Given the description of an element on the screen output the (x, y) to click on. 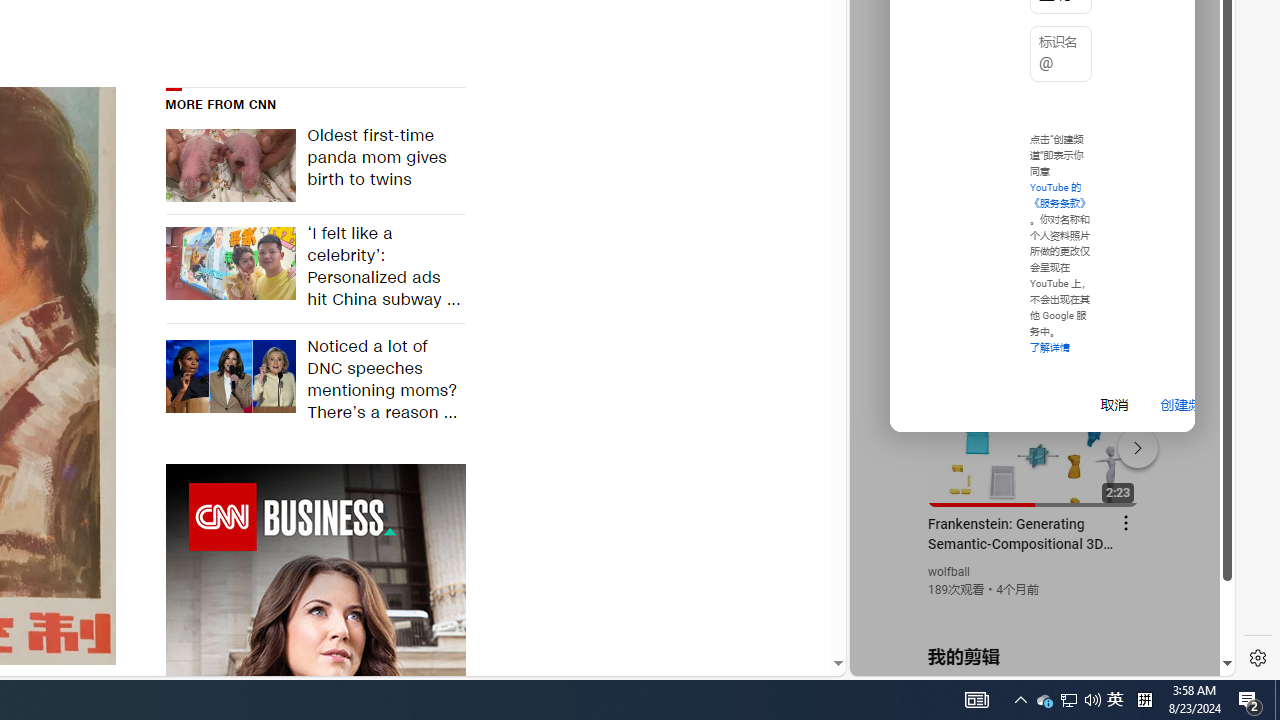
Actions for this site (1131, 443)
Oldest first-time panda mom gives birth to twins (379, 165)
you (1034, 609)
#you (1034, 439)
Click to scroll right (1196, 83)
Class: dict_pnIcon rms_img (1028, 660)
YouTube - YouTube (1034, 266)
